Given the description of an element on the screen output the (x, y) to click on. 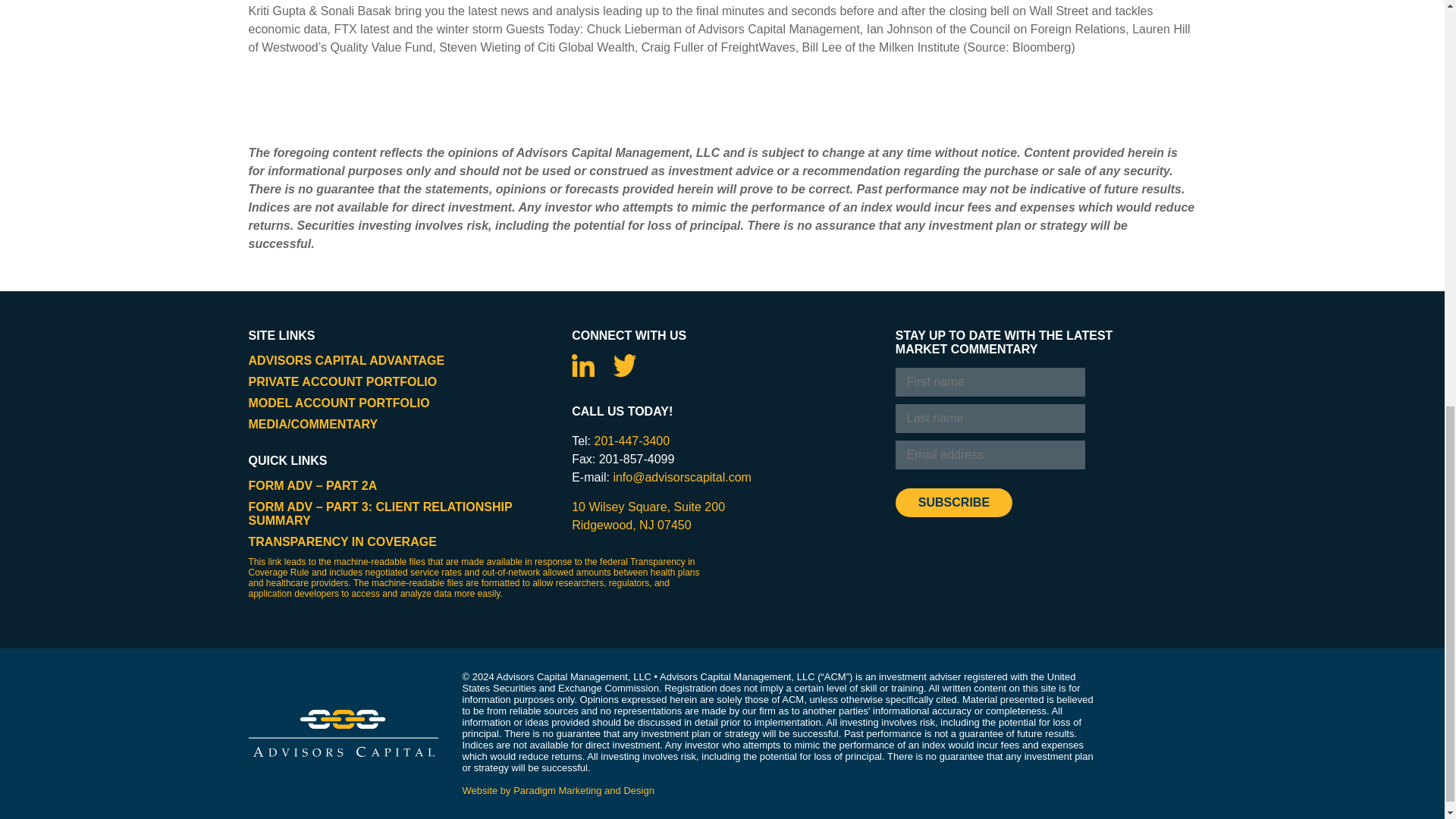
TRANSPARENCY IN COVERAGE (342, 541)
MODEL ACCOUNT PORTFOLIO (338, 402)
Website by Paradigm Marketing and Design (558, 790)
Subscribe (953, 502)
Subscribe (953, 502)
PRIVATE ACCOUNT PORTFOLIO (343, 381)
ADVISORS CAPITAL ADVANTAGE (346, 359)
201-447-3400 (631, 440)
